Given the description of an element on the screen output the (x, y) to click on. 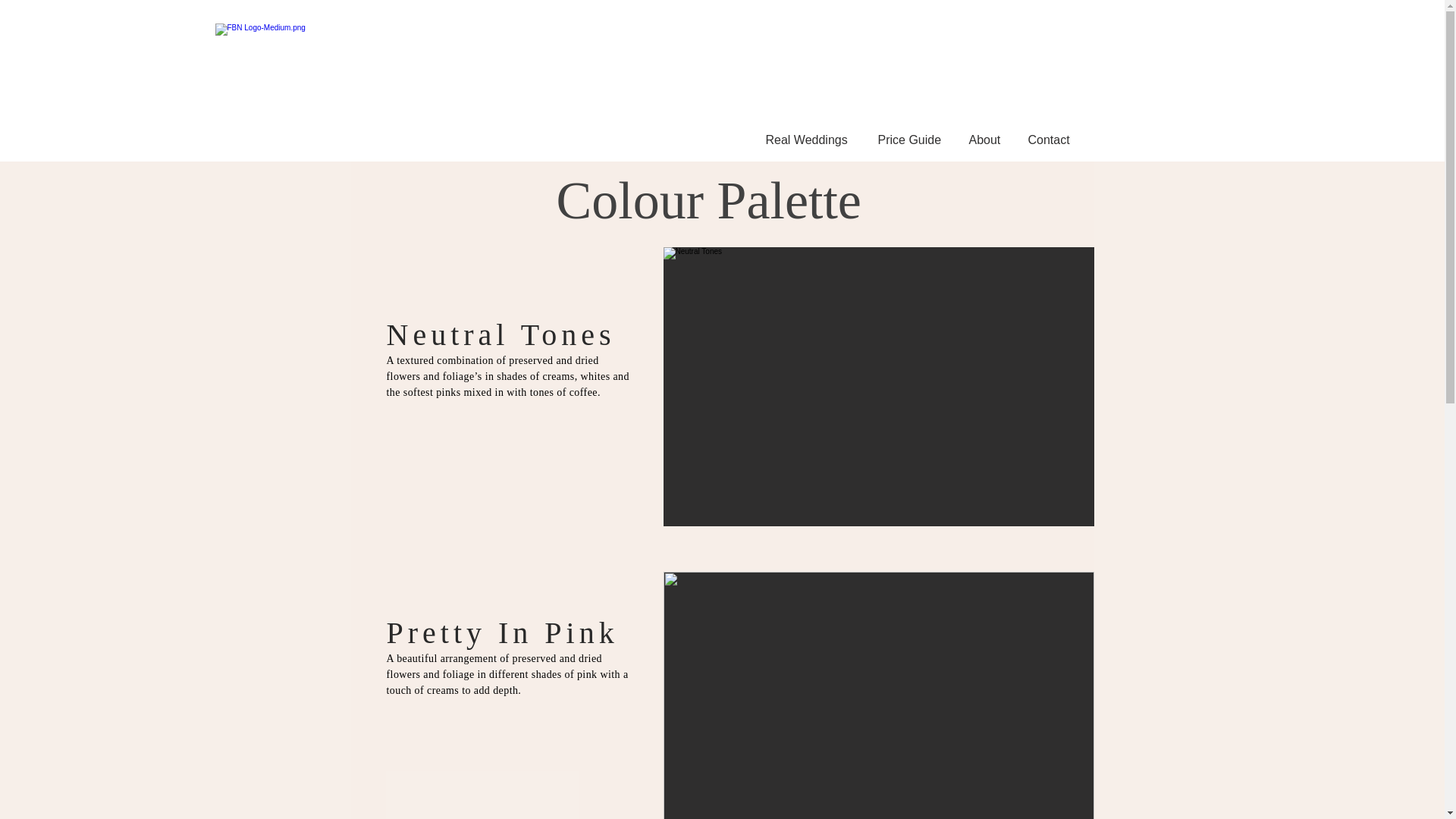
Contact (1052, 139)
Price Guide (911, 139)
Real Weddings (810, 139)
About (986, 139)
